Given the description of an element on the screen output the (x, y) to click on. 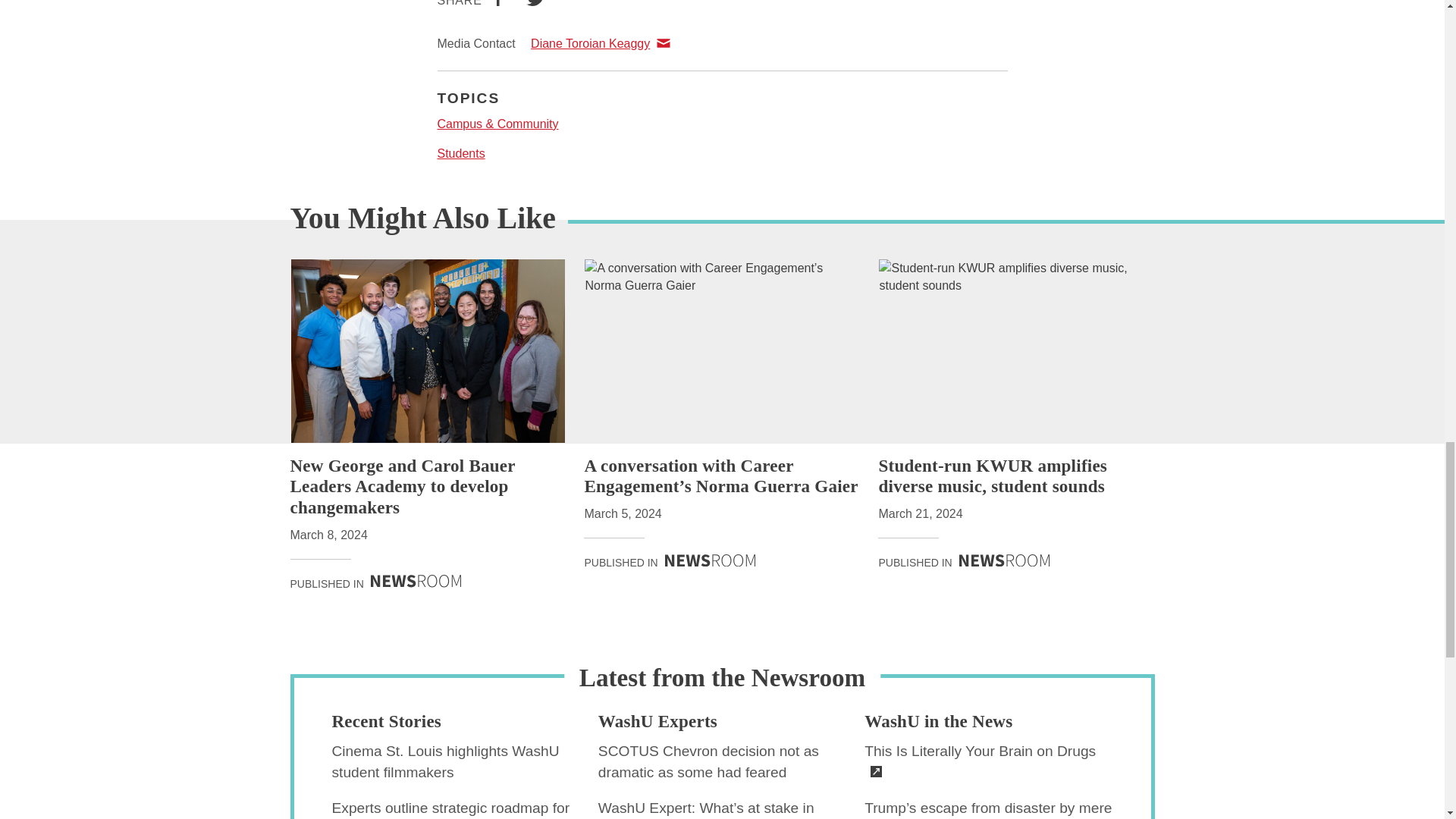
Click to share on Twitter (535, 5)
Click to share on Facebook (497, 5)
